Given the description of an element on the screen output the (x, y) to click on. 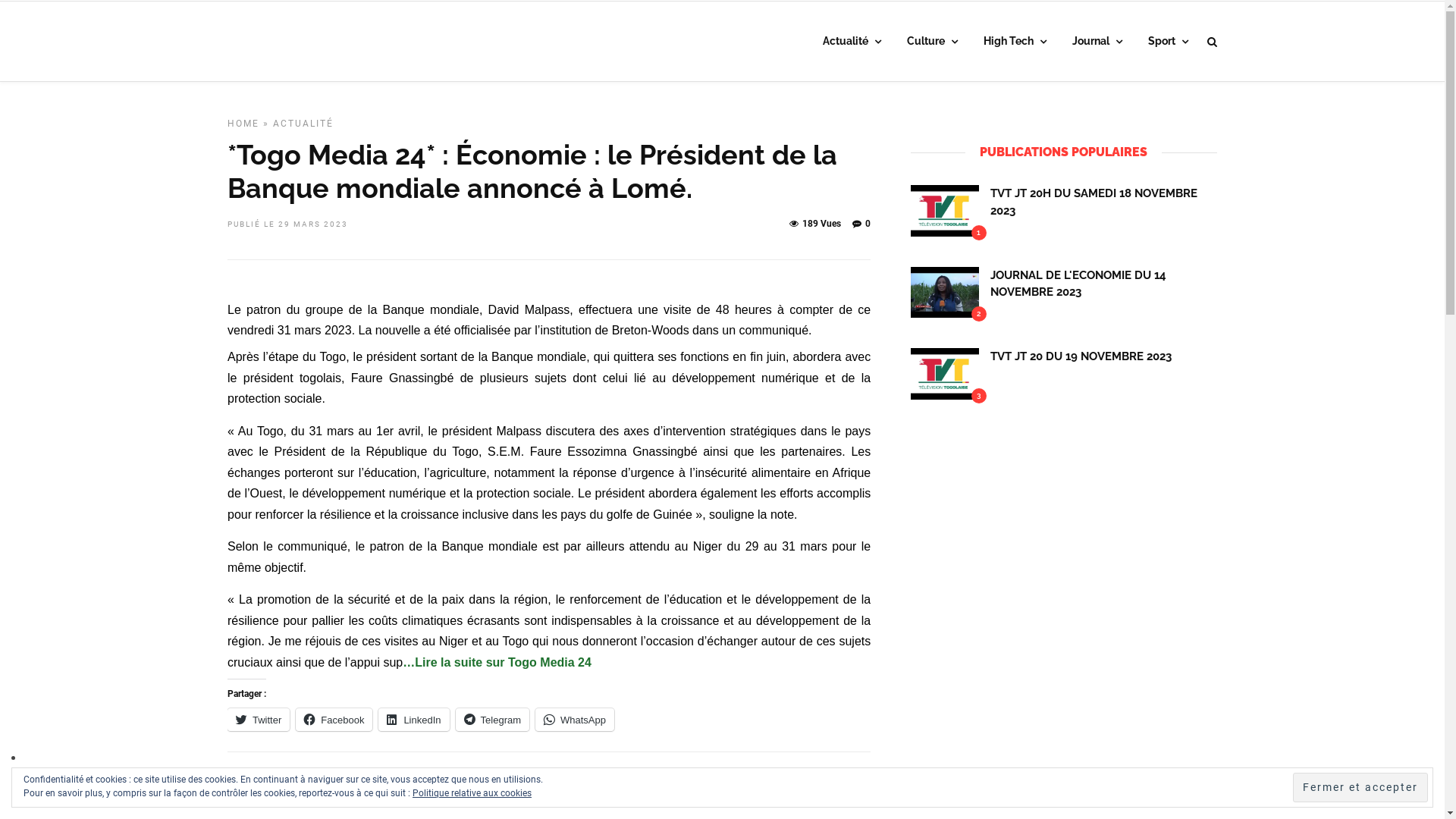
WhatsApp Element type: text (574, 719)
Politique relative aux cookies Element type: text (471, 792)
Sport Element type: text (1167, 42)
Culture Element type: text (932, 42)
LinkedIn Element type: text (413, 719)
TVT JT 20 DU 19 NOVEMBRE 2023 Element type: text (1080, 356)
Fermer et accepter Element type: text (1359, 787)
Journal Element type: text (1096, 42)
HOME Element type: text (243, 123)
0 Element type: text (861, 223)
TVT JT 20H DU SAMEDI 18 NOVEMBRE 2023 Element type: text (1093, 201)
Facebook Element type: text (333, 719)
Telegram Element type: text (492, 719)
Twitter Element type: text (258, 719)
High Tech Element type: text (1014, 42)
JOURNAL DE L'ECONOMIE DU 14 NOVEMBRE 2023 Element type: text (1078, 283)
